Given the description of an element on the screen output the (x, y) to click on. 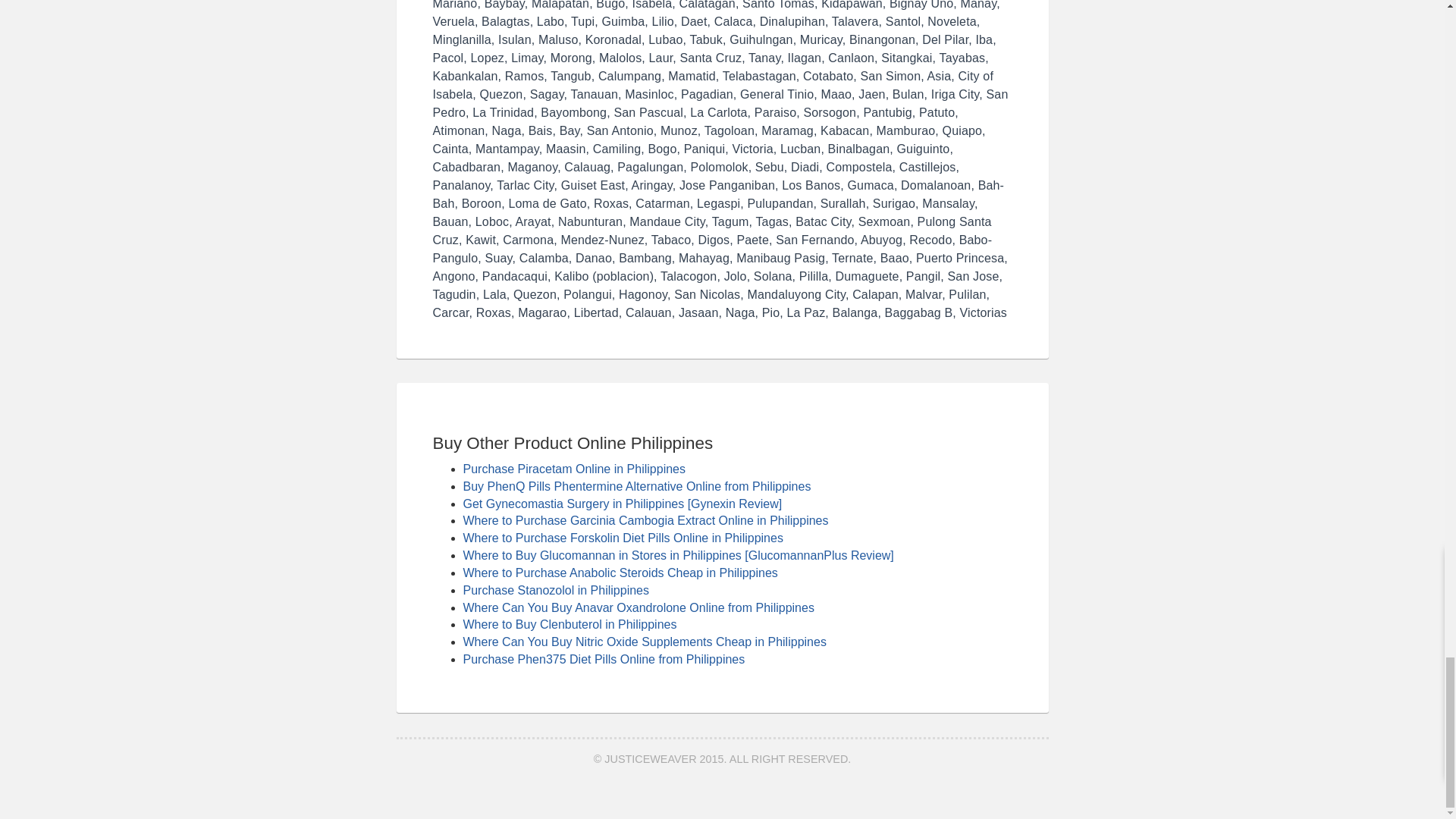
Where to Purchase Forskolin Diet Pills Online in Philippines (623, 537)
Purchase Piracetam Online in Philippines (573, 468)
Where to Buy Clenbuterol in Philippines (570, 624)
Where to Purchase Anabolic Steroids Cheap in Philippines (620, 572)
Purchase Stanozolol in Philippines (555, 590)
Where Can You Buy Anavar Oxandrolone Online from Philippines (638, 607)
Purchase Phen375 Diet Pills Online from Philippines (603, 658)
